Given the description of an element on the screen output the (x, y) to click on. 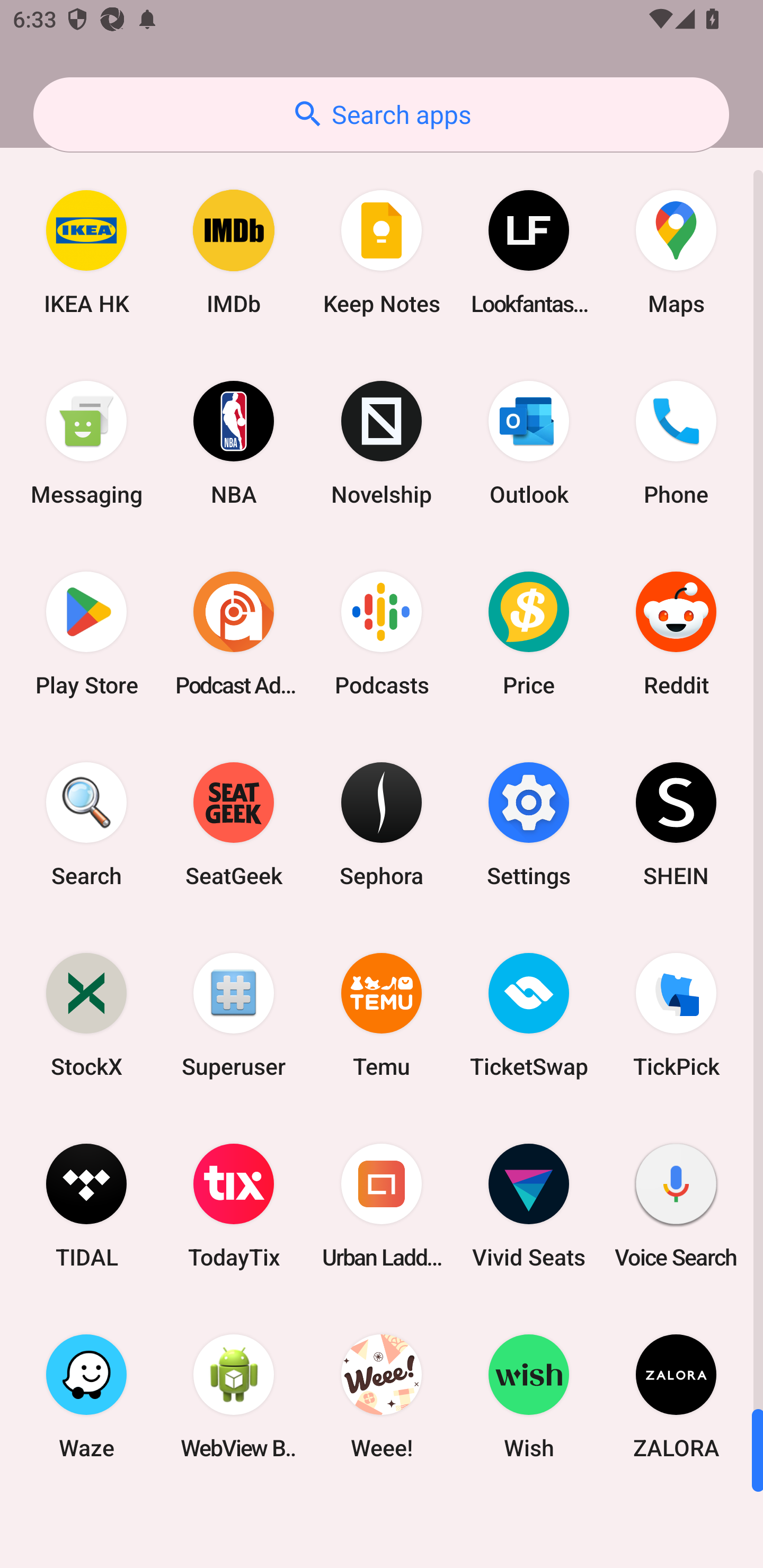
  Search apps (381, 114)
IKEA HK (86, 252)
IMDb (233, 252)
Keep Notes (381, 252)
Lookfantastic (528, 252)
Maps (676, 252)
Messaging (86, 442)
NBA (233, 442)
Novelship (381, 442)
Outlook (528, 442)
Phone (676, 442)
Play Store (86, 633)
Podcast Addict (233, 633)
Podcasts (381, 633)
Price (528, 633)
Reddit (676, 633)
Search (86, 823)
SeatGeek (233, 823)
Sephora (381, 823)
Settings (528, 823)
SHEIN (676, 823)
StockX (86, 1014)
Superuser (233, 1014)
Temu (381, 1014)
TicketSwap (528, 1014)
TickPick (676, 1014)
TIDAL (86, 1205)
TodayTix (233, 1205)
Urban Ladder (381, 1205)
Vivid Seats (528, 1205)
Voice Search (676, 1205)
Waze (86, 1396)
WebView Browser Tester (233, 1396)
Weee! (381, 1396)
Wish (528, 1396)
ZALORA (676, 1396)
